Given the description of an element on the screen output the (x, y) to click on. 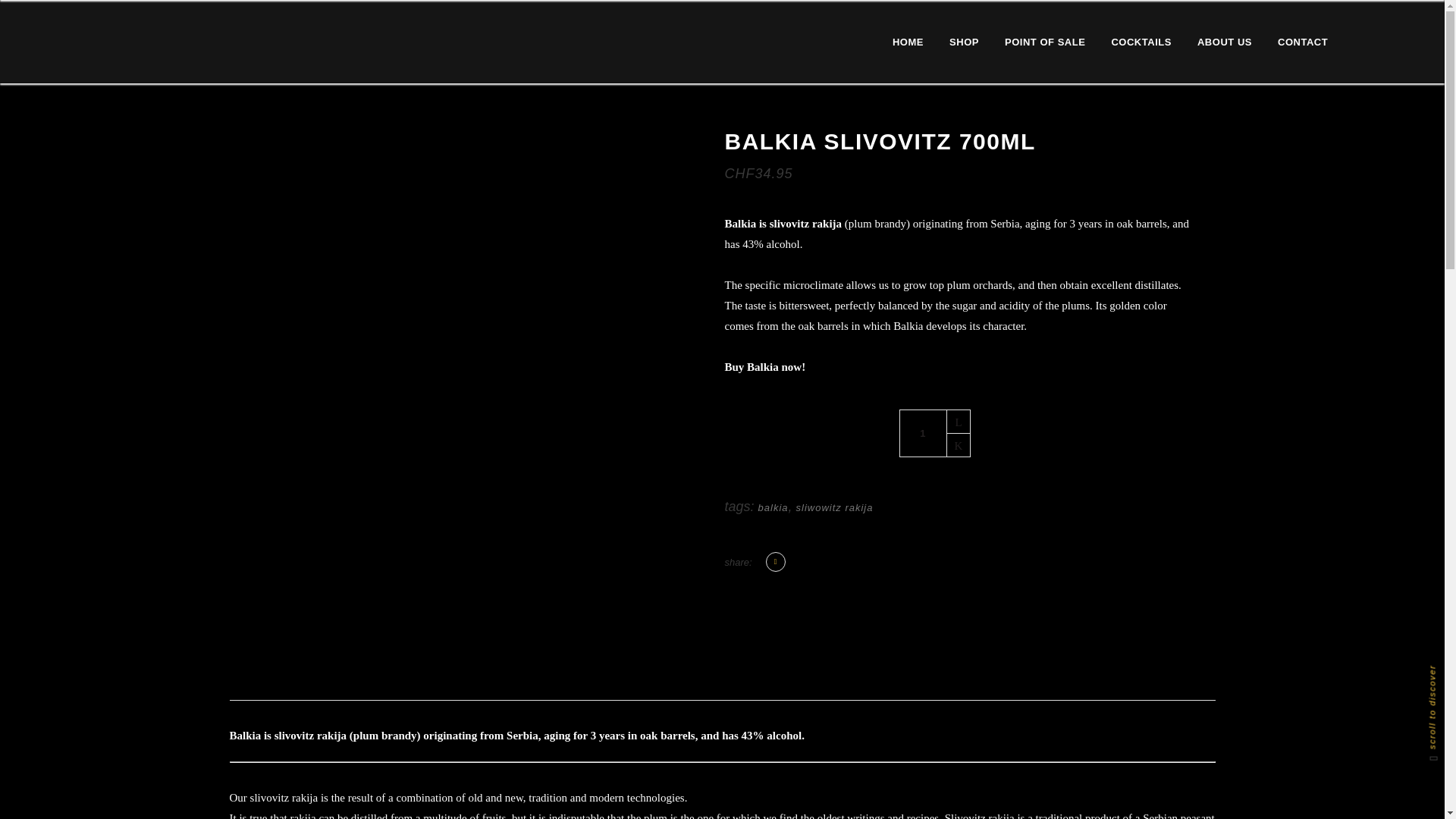
CONTACT (1302, 41)
COCKTAILS (1141, 41)
ABOUT US (1225, 41)
POINT OF SALE (1044, 41)
Qty (923, 433)
1 (923, 433)
